Given the description of an element on the screen output the (x, y) to click on. 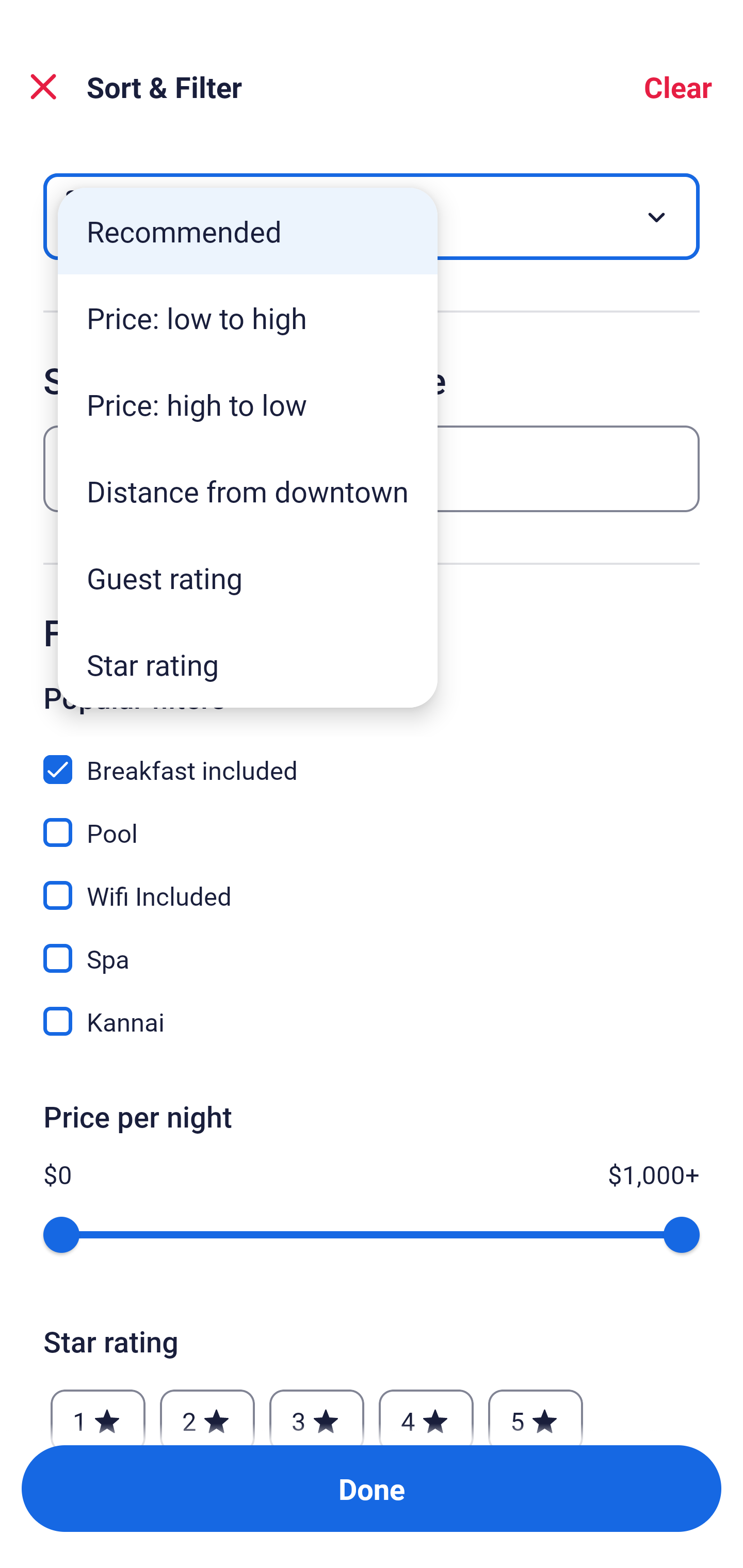
Price: low to high (247, 317)
Price: high to low (247, 404)
Distance from downtown (247, 491)
Guest rating (247, 577)
Star rating (247, 663)
